Given the description of an element on the screen output the (x, y) to click on. 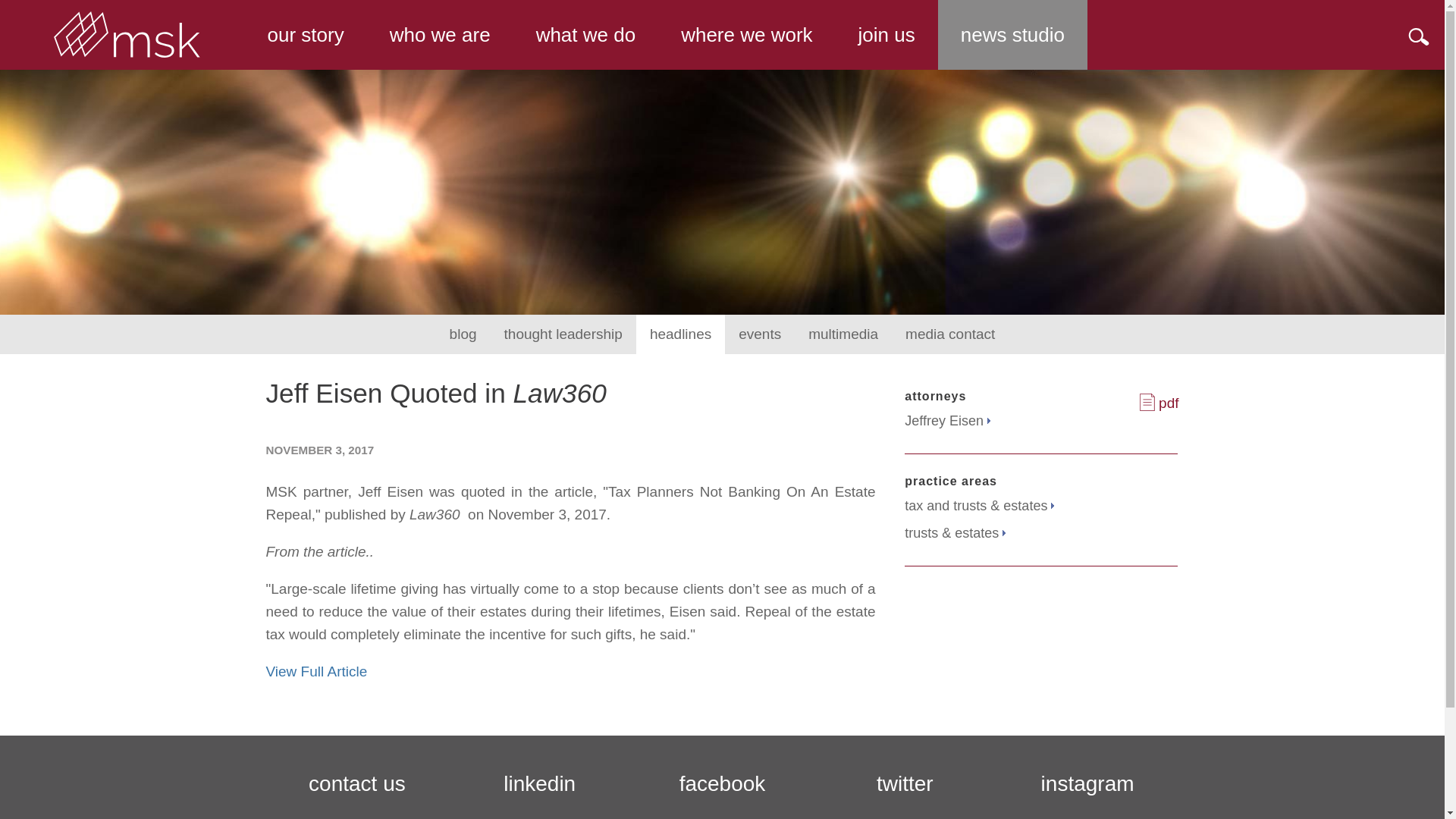
pdf (1158, 403)
who we are (439, 34)
news studio (1012, 34)
media contact (950, 333)
blog (462, 333)
join us (886, 34)
what we do (586, 34)
View Full Article  (317, 671)
headlines (680, 333)
Jeffrey Eisen (947, 420)
thought leadership (563, 333)
multimedia (842, 333)
events (759, 333)
where we work (746, 34)
our story (305, 34)
